Given the description of an element on the screen output the (x, y) to click on. 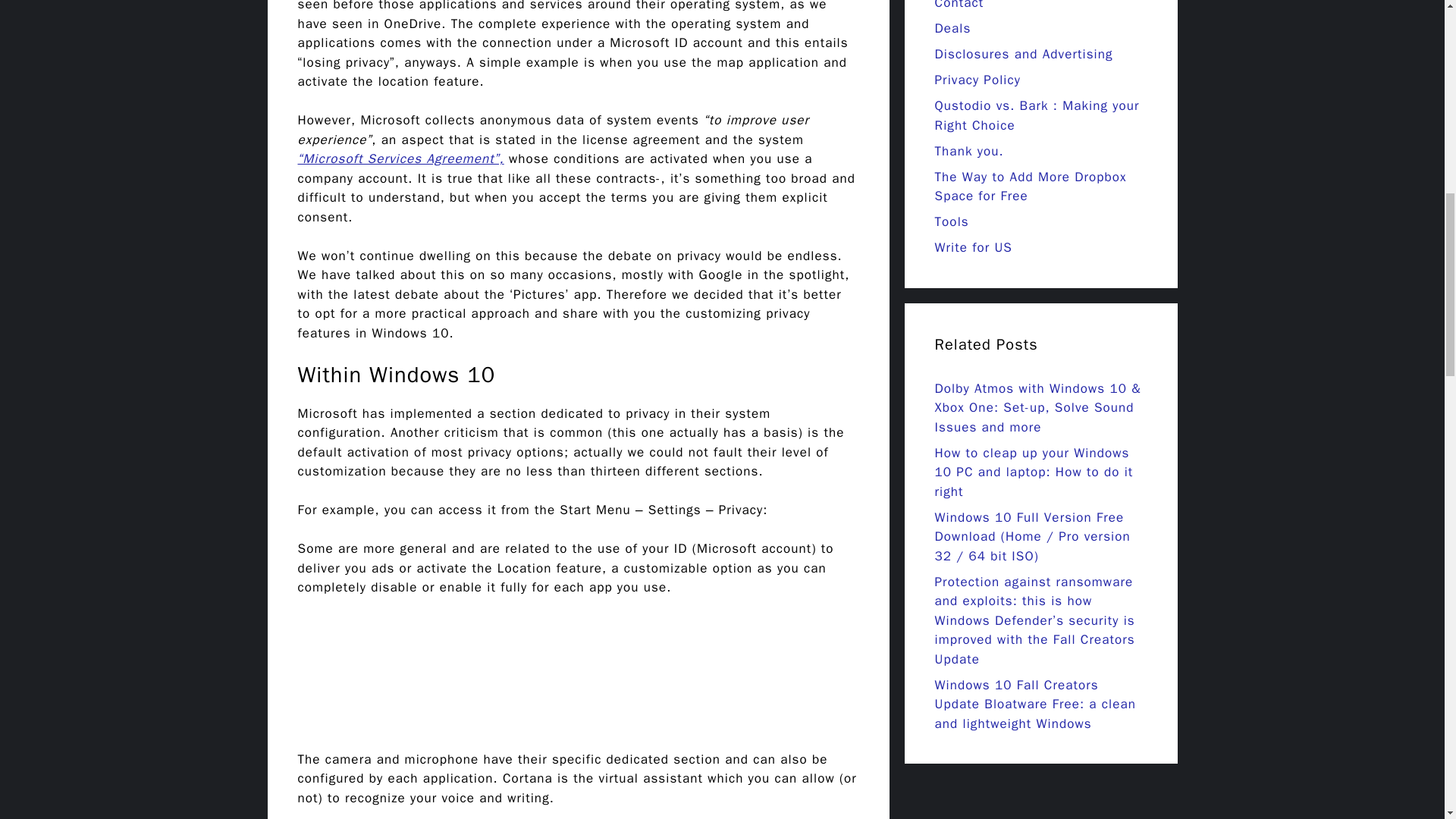
Disclosures and Advertising (1023, 53)
Write for US (972, 247)
Tools (951, 221)
Contact (959, 5)
Privacy Policy (977, 79)
Qustodio vs. Bark : Making your Right Choice (1036, 115)
The Way to Add More Dropbox Space for Free (1029, 186)
Thank you. (968, 150)
Deals (952, 28)
